Given the description of an element on the screen output the (x, y) to click on. 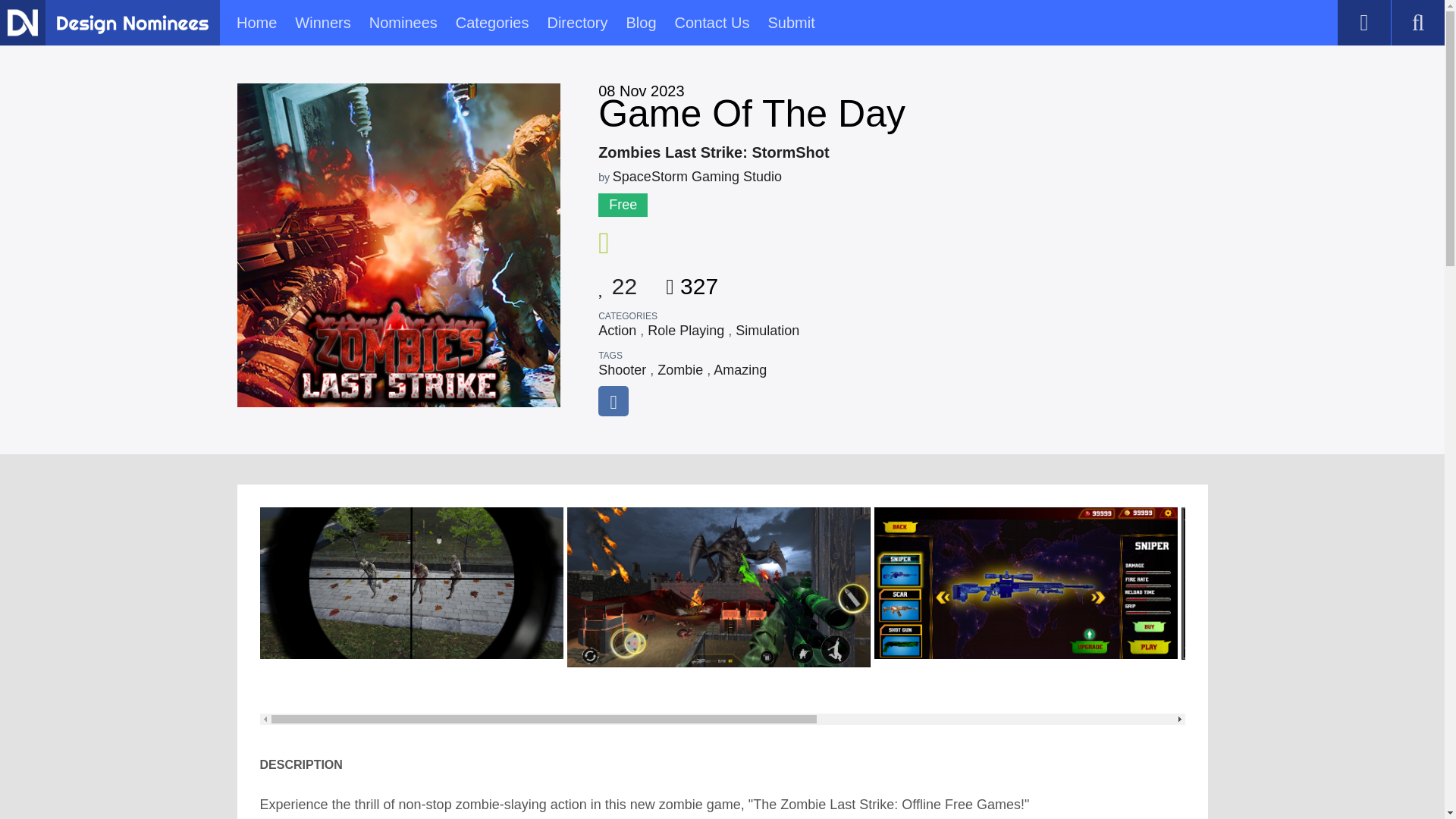
Nominees (403, 22)
Directory (577, 22)
Categories (492, 22)
Simulation (767, 330)
Shooter (622, 369)
Design Nominees (132, 24)
Contact Us (712, 22)
Winners (322, 22)
Zombie (680, 369)
Role Playing (685, 330)
Design Nominees (22, 22)
Action (617, 330)
Submit (790, 22)
Amazing (740, 369)
22 (617, 281)
